Given the description of an element on the screen output the (x, y) to click on. 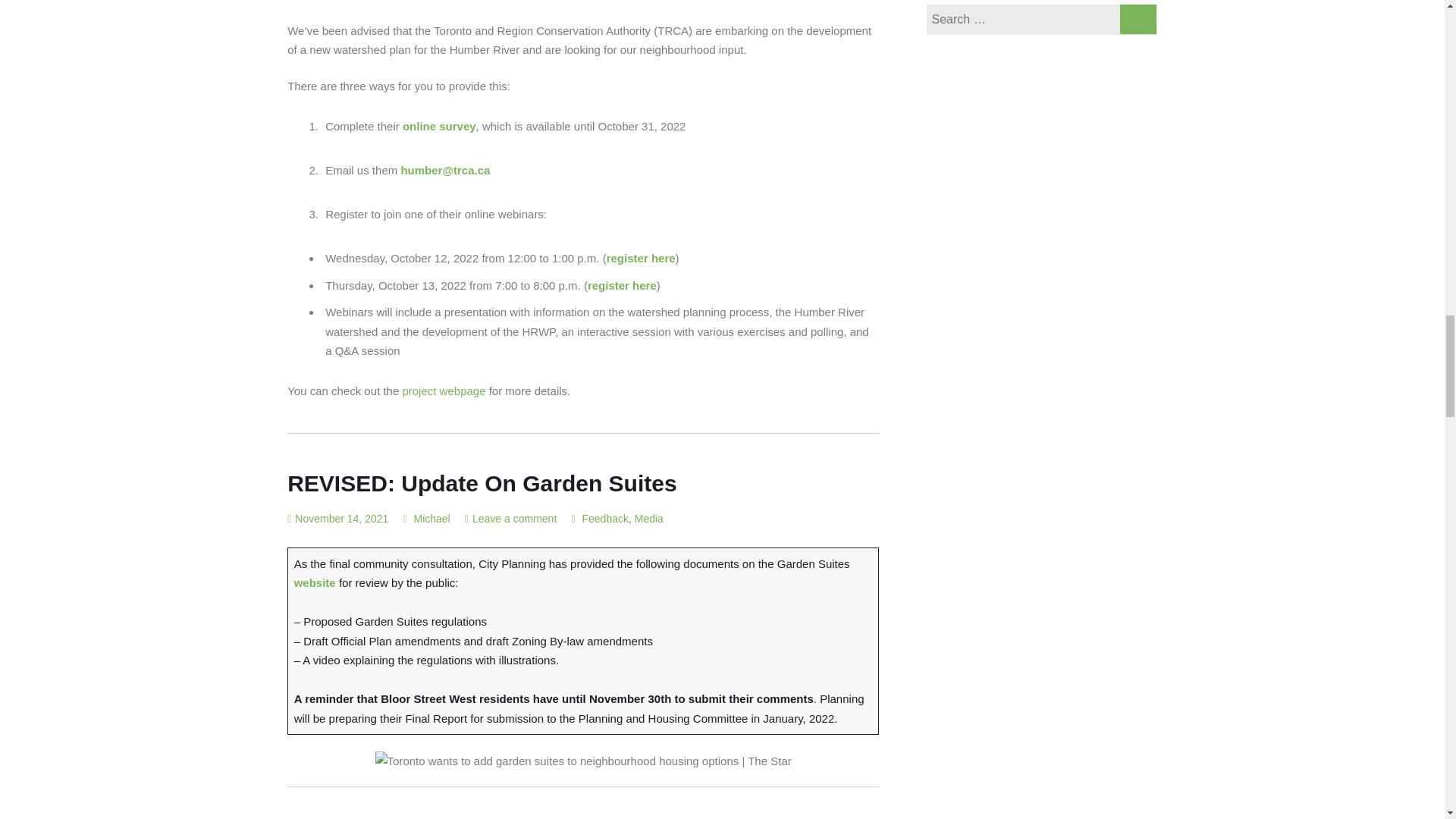
Search (1137, 18)
Search (1137, 18)
